Given the description of an element on the screen output the (x, y) to click on. 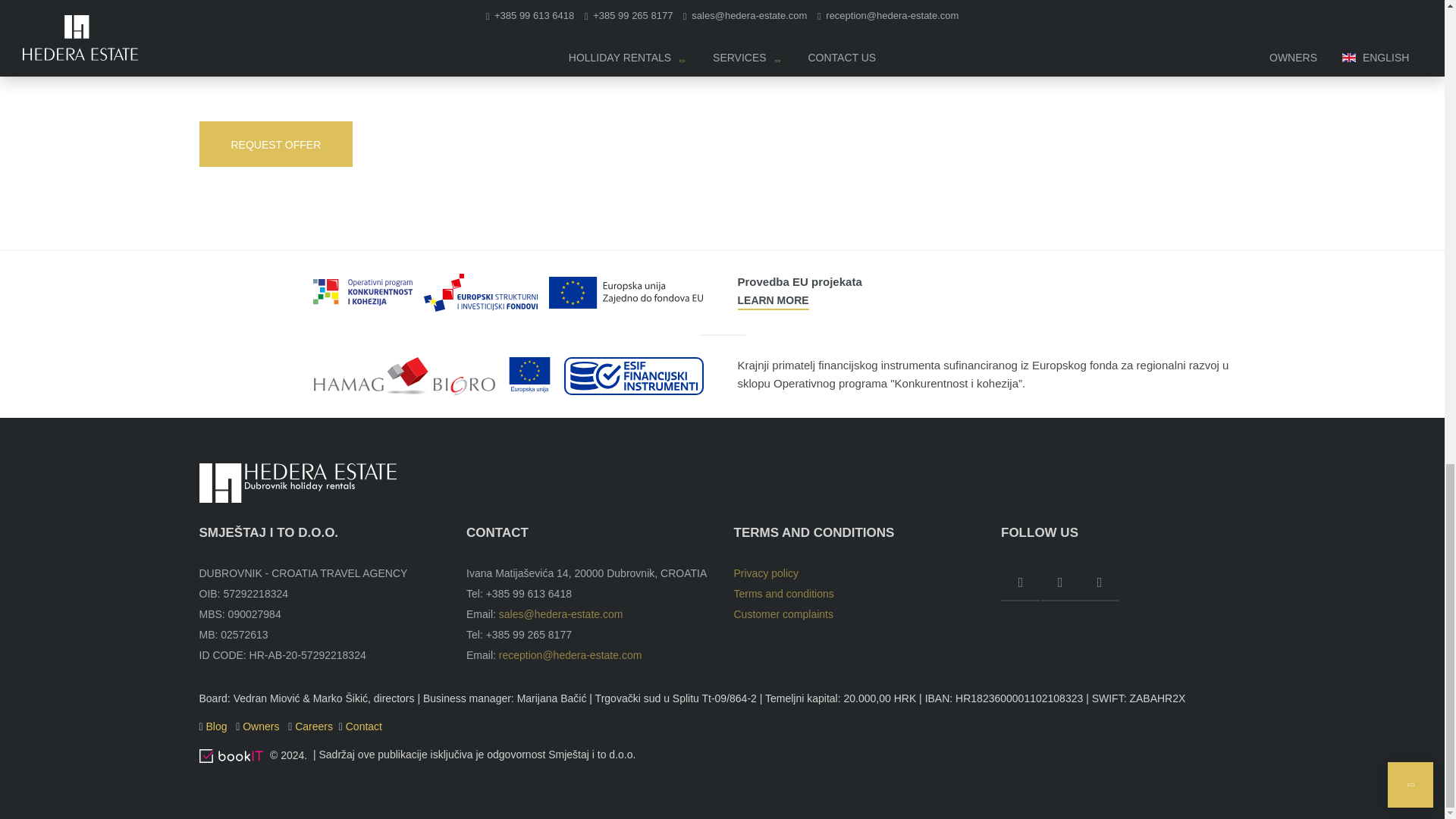
REQUEST OFFER (275, 144)
LEARN MORE (772, 300)
Contact (363, 726)
Privacy policy (766, 573)
Terms and conditions (783, 593)
Customer complaints (783, 613)
Careers (314, 726)
Owners (262, 726)
Blog (218, 726)
